Given the description of an element on the screen output the (x, y) to click on. 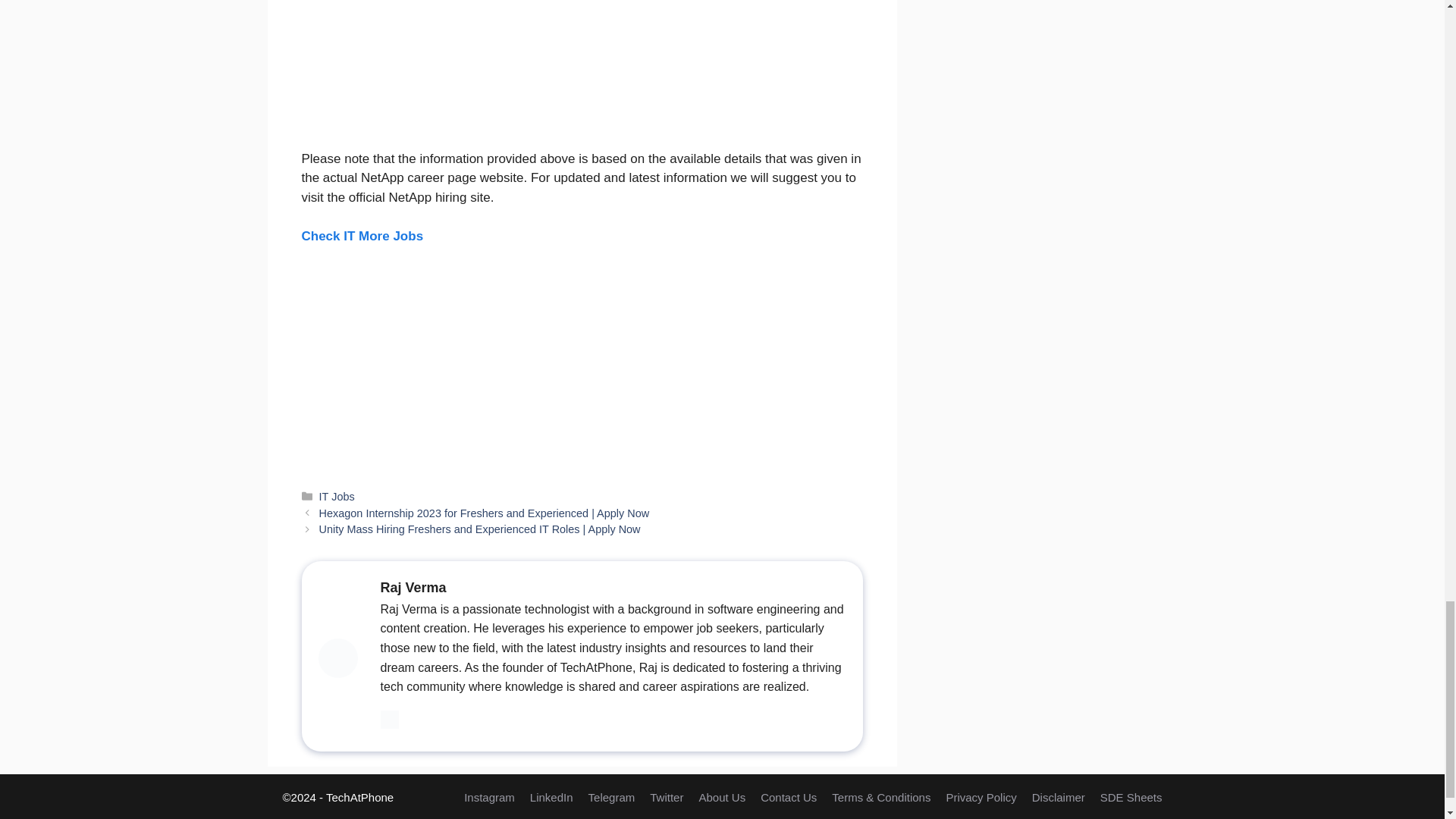
IT Jobs (336, 496)
Check IT More Jobs (362, 236)
